Given the description of an element on the screen output the (x, y) to click on. 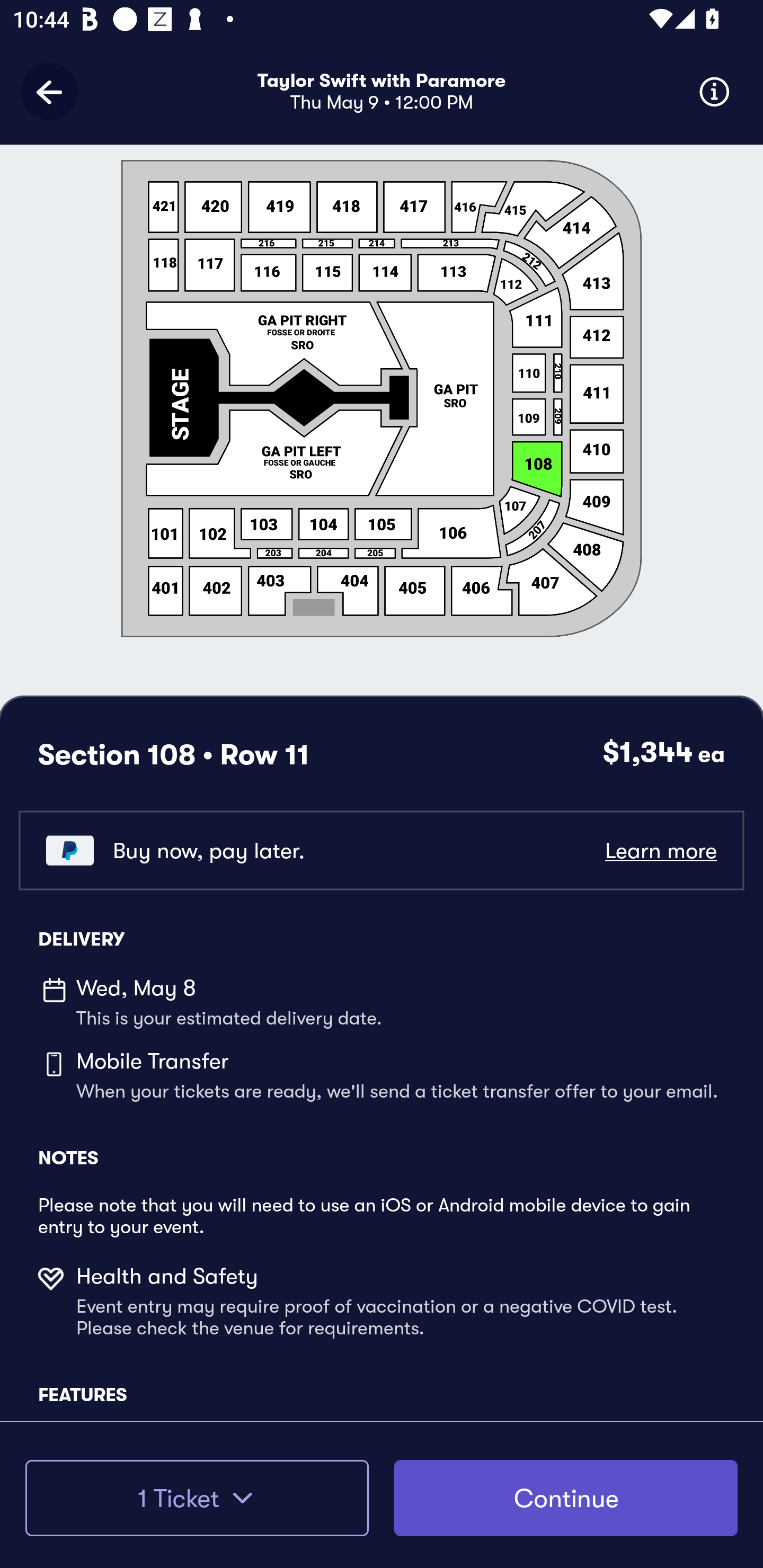
Learn more (660, 850)
1 Ticket (196, 1497)
Continue (565, 1497)
